Given the description of an element on the screen output the (x, y) to click on. 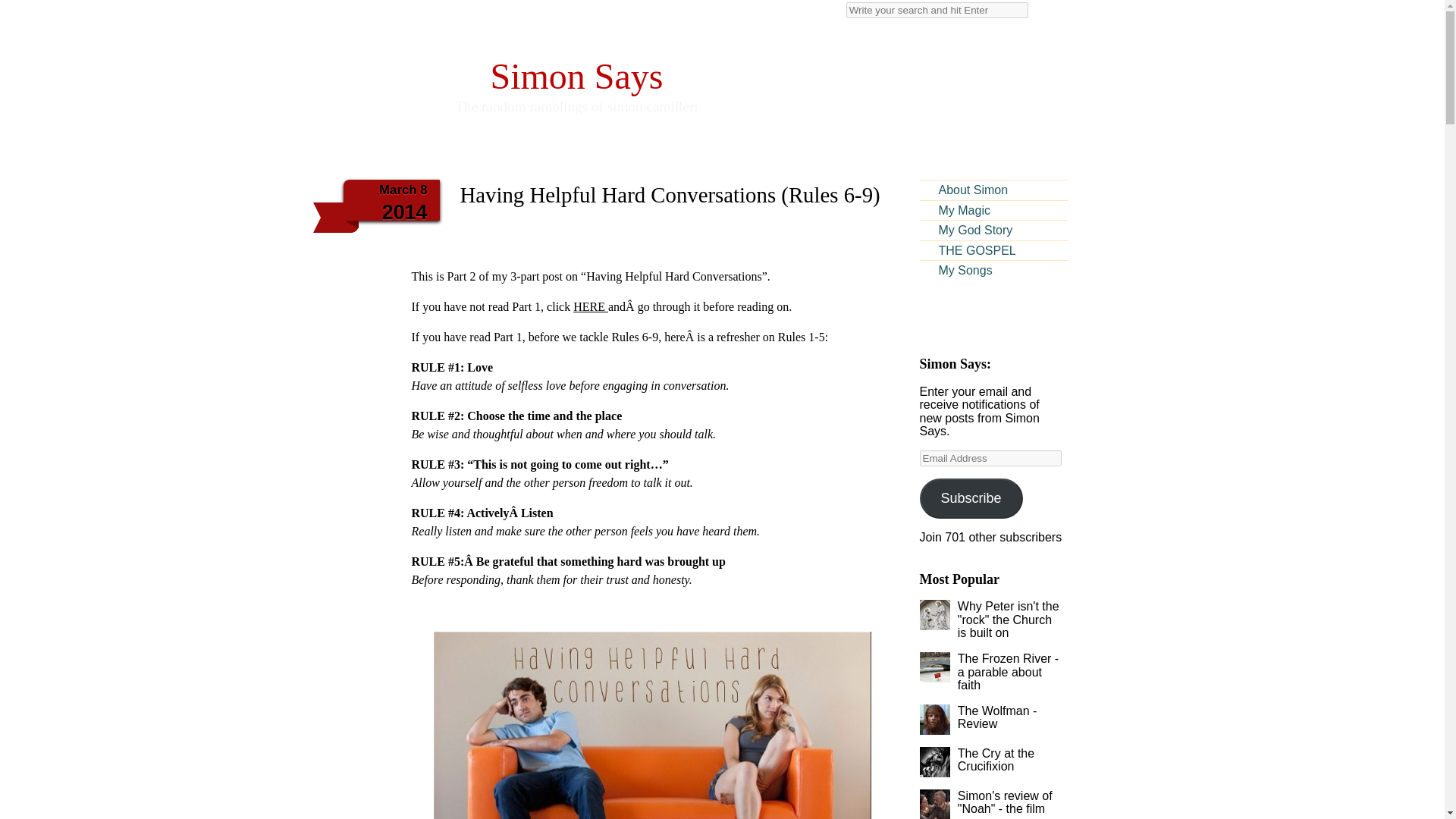
About Simon (992, 189)
My God Story (992, 230)
Simon Says (576, 66)
The Cry at the Crucifixion (995, 759)
The Cry at the Crucifixion (995, 759)
HERE (590, 306)
Why Peter isn't the "rock" the Church is built on (576, 66)
THE GOSPEL (1008, 619)
Subscribe (992, 250)
